Given the description of an element on the screen output the (x, y) to click on. 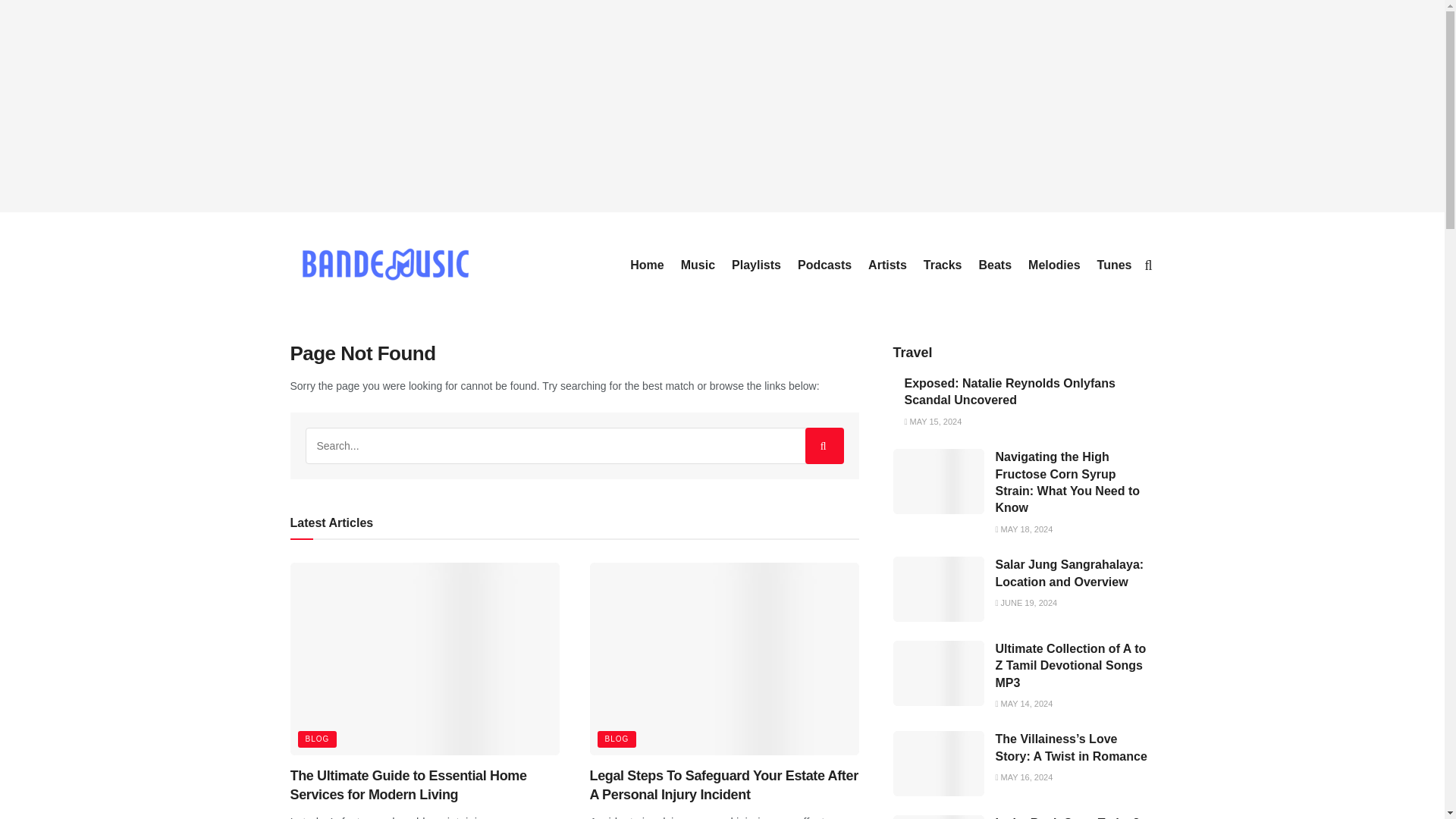
Music (697, 265)
BLOG (316, 739)
Tunes (1114, 265)
BLOG (616, 739)
Melodies (1053, 265)
Tracks (942, 265)
Podcasts (824, 265)
Artists (887, 265)
